Given the description of an element on the screen output the (x, y) to click on. 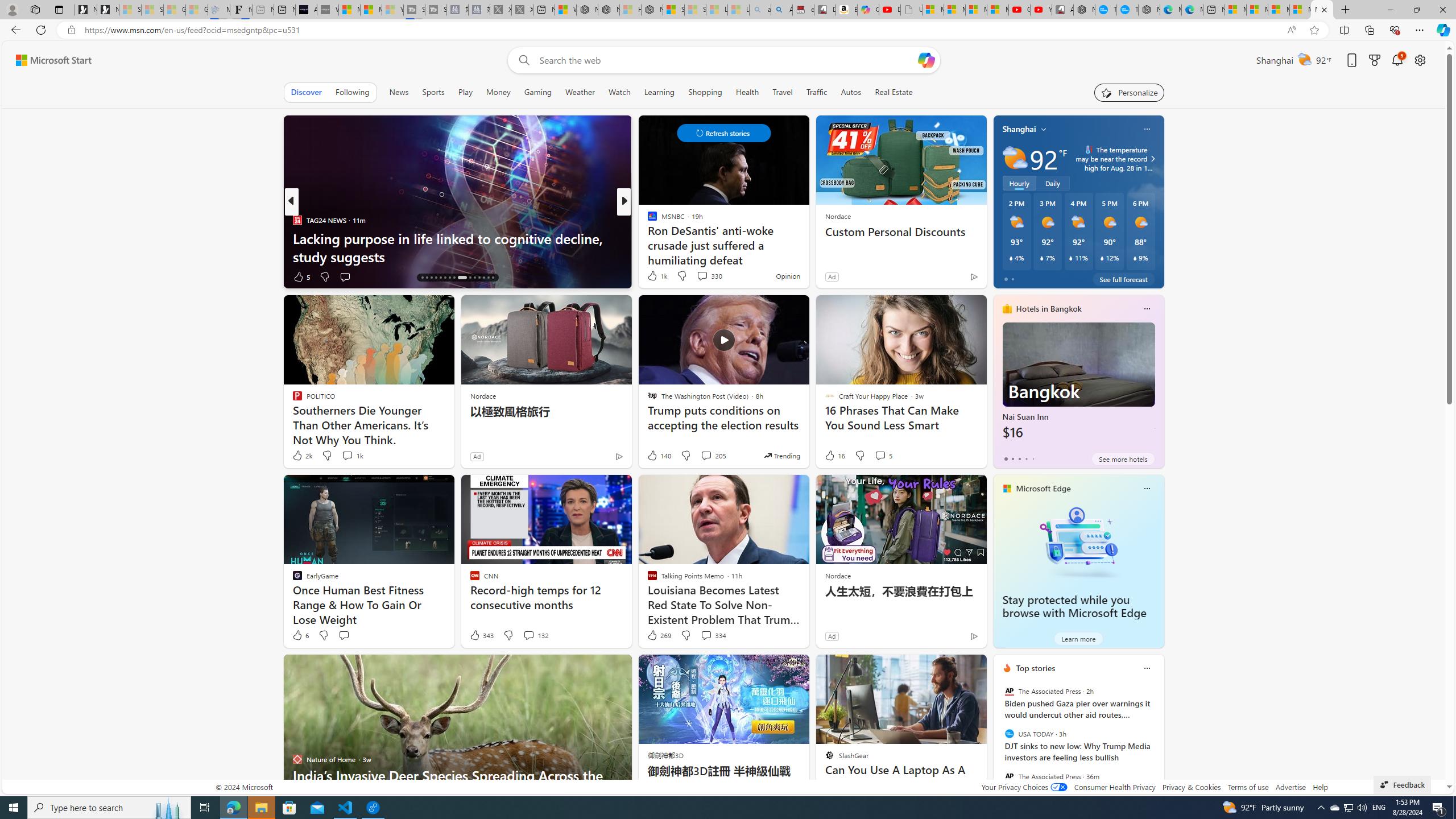
AutomationID: tab-20 (440, 277)
View comments 132 Comment (535, 634)
View comments 205 Comment (705, 455)
tab-0 (1005, 458)
Untitled (911, 9)
previous (998, 741)
